Given the description of an element on the screen output the (x, y) to click on. 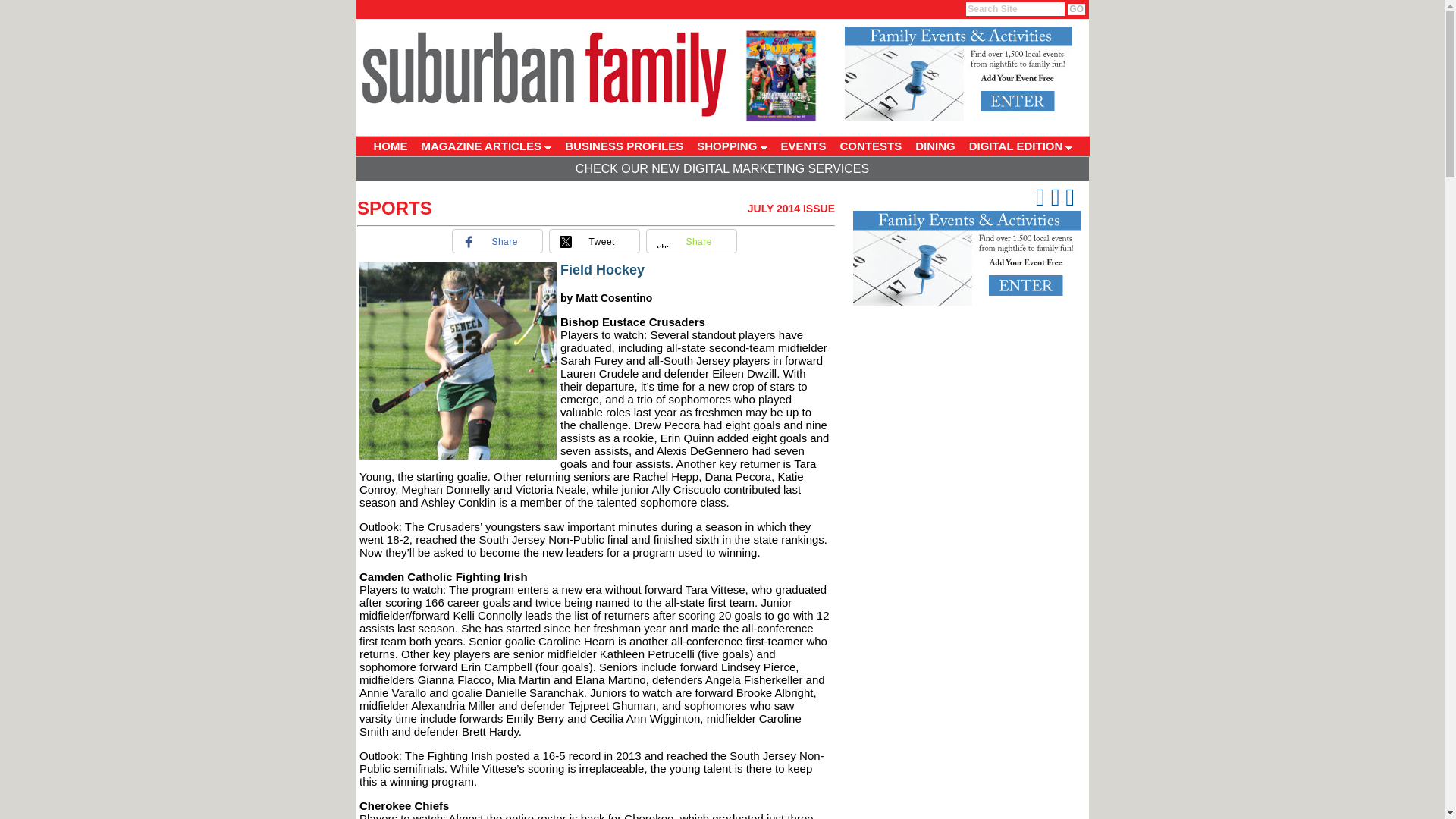
JULY 2014 ISSUE (791, 208)
MAGAZINE ARTICLES (485, 145)
SHOPPING (731, 145)
GO (1075, 9)
CONTESTS (870, 145)
HOME (390, 145)
DIGITAL EDITION (1020, 145)
CHECK OUR NEW DIGITAL MARKETING SERVICES (722, 168)
DINING (935, 145)
GO (1075, 9)
